Given the description of an element on the screen output the (x, y) to click on. 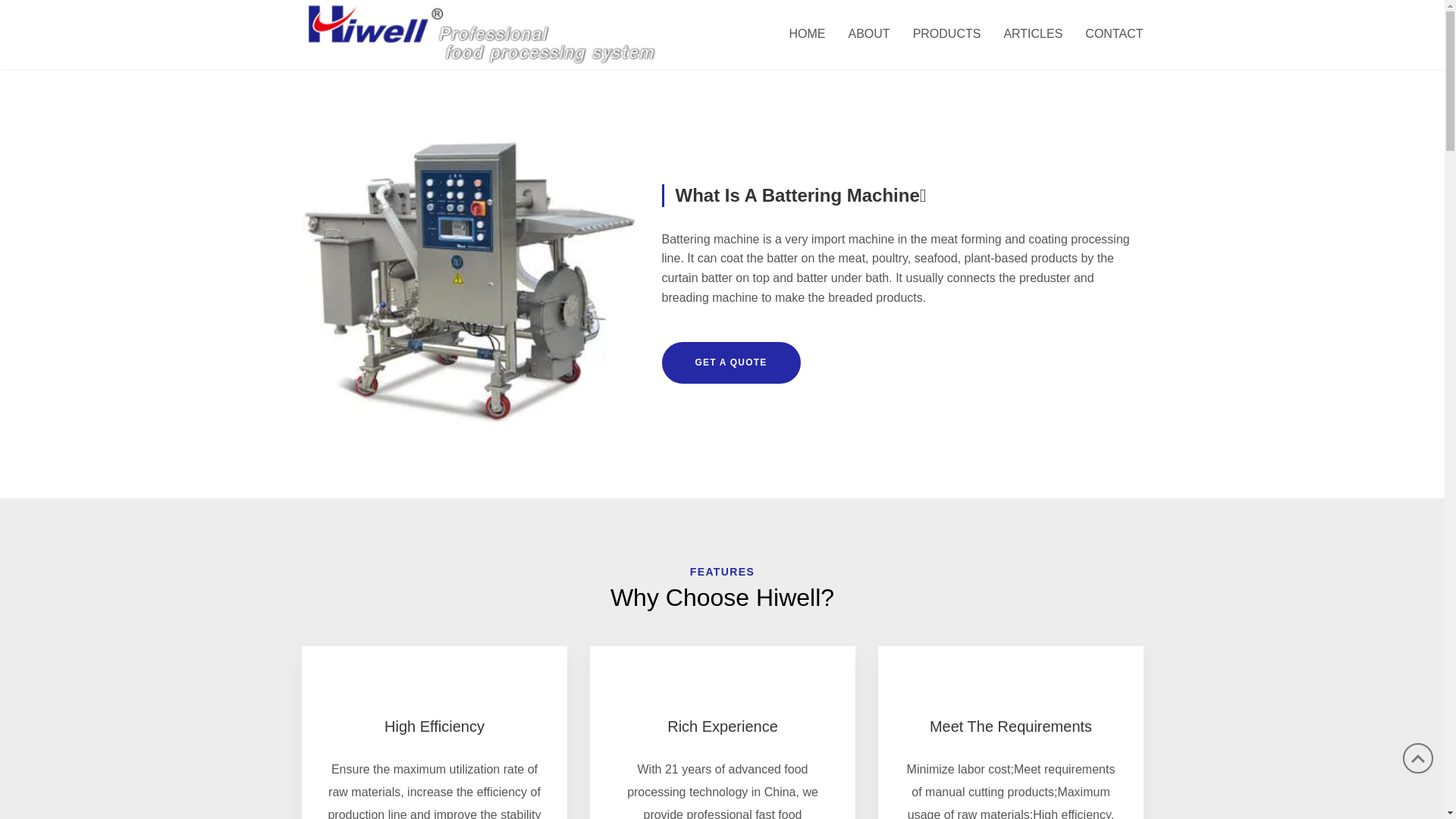
CONTACT Element type: text (1107, 34)
ARTICLES Element type: text (1032, 34)
PRODUCTS Element type: text (946, 34)
GET A QUOTE Element type: text (730, 362)
HOME Element type: text (807, 34)
Back To Home Element type: hover (482, 33)
ABOUT Element type: text (869, 34)
